Given the description of an element on the screen output the (x, y) to click on. 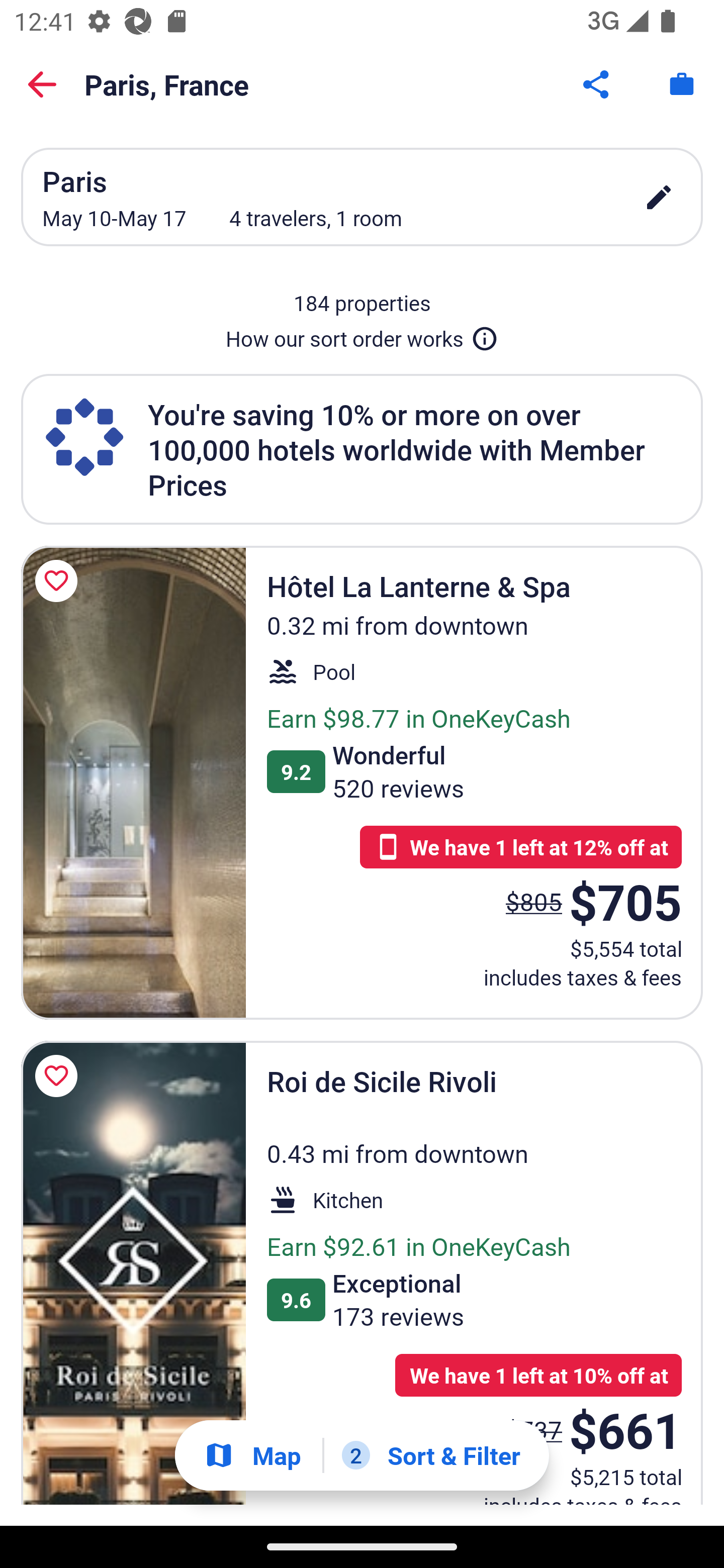
Back (42, 84)
Share Button (597, 84)
Trips. Button (681, 84)
Paris May 10-May 17 4 travelers, 1 room edit (361, 196)
How our sort order works (361, 334)
Save Hôtel La Lanterne & Spa to a trip (59, 580)
Hôtel La Lanterne & Spa (133, 782)
$805 The price was $805 (533, 901)
Save Roi de Sicile Rivoli to a trip (59, 1075)
Roi de Sicile Rivoli (133, 1273)
2 Sort & Filter 2 Filters applied. Filters Button (430, 1455)
Show map Map Show map Button (252, 1455)
